Given the description of an element on the screen output the (x, y) to click on. 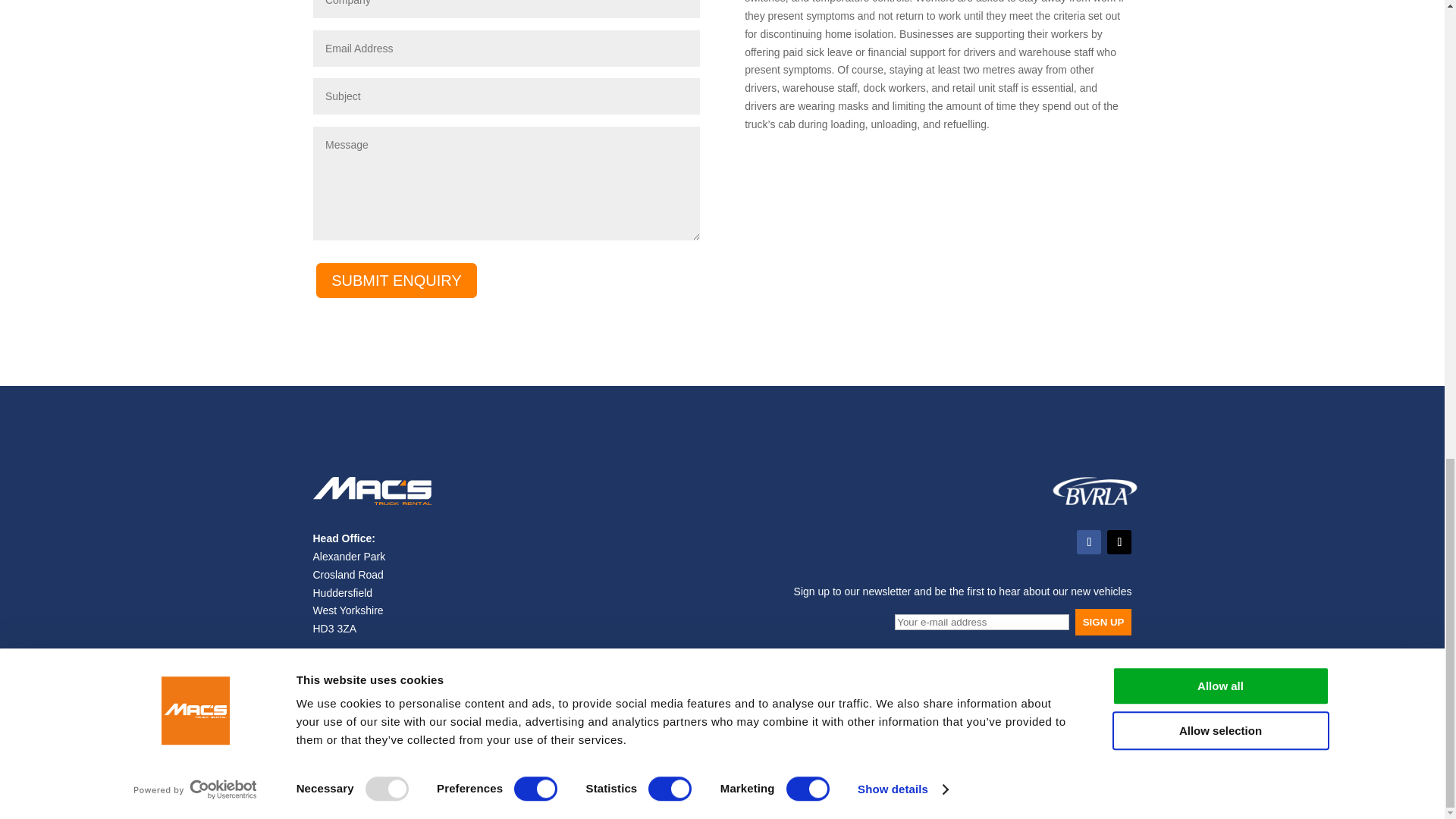
Follow on X (1118, 541)
Sign up (1103, 622)
Follow on Facebook (1088, 541)
Macs Rental Logo (371, 503)
bvrla-white (1094, 503)
